Given the description of an element on the screen output the (x, y) to click on. 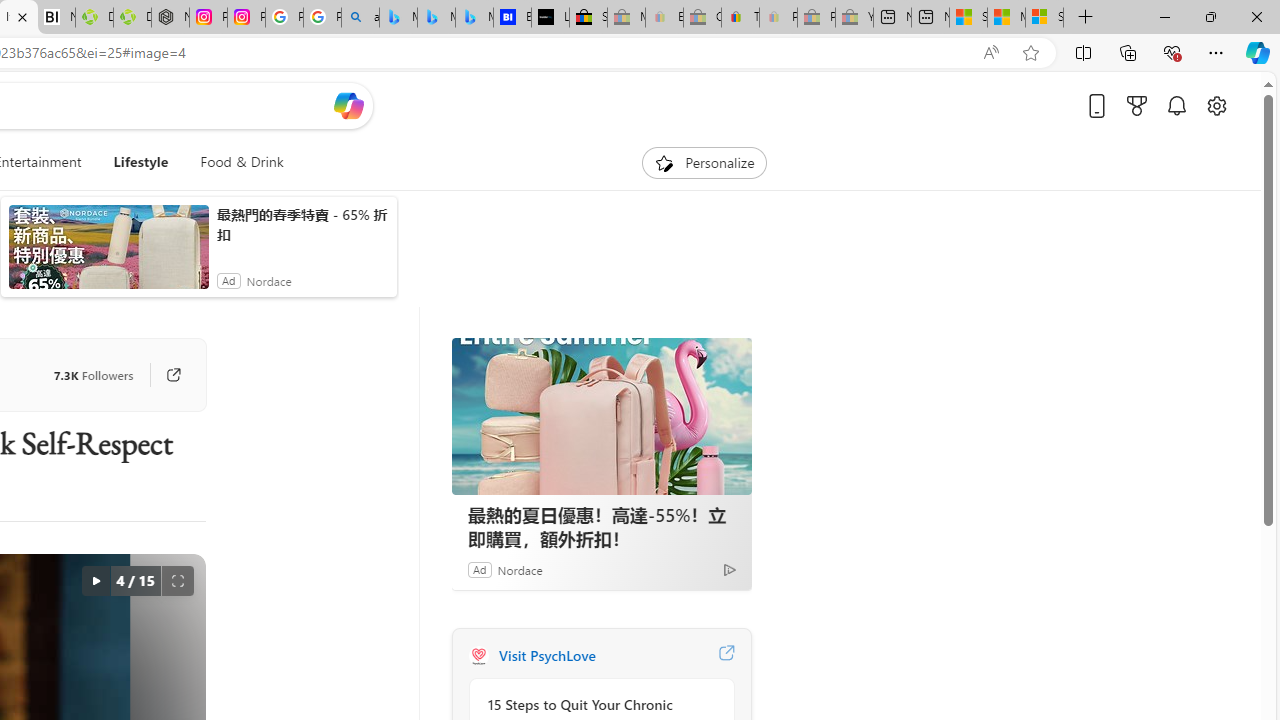
alabama high school quarterback dies - Search (359, 17)
Payments Terms of Use | eBay.com - Sleeping (778, 17)
Microsoft Bing Travel - Flights from Hong Kong to Bangkok (398, 17)
Threats and offensive language policy | eBay (740, 17)
PsychLove (478, 655)
Descarga Driver Updater (132, 17)
Nordace - Nordace Edin Collection (170, 17)
